Given the description of an element on the screen output the (x, y) to click on. 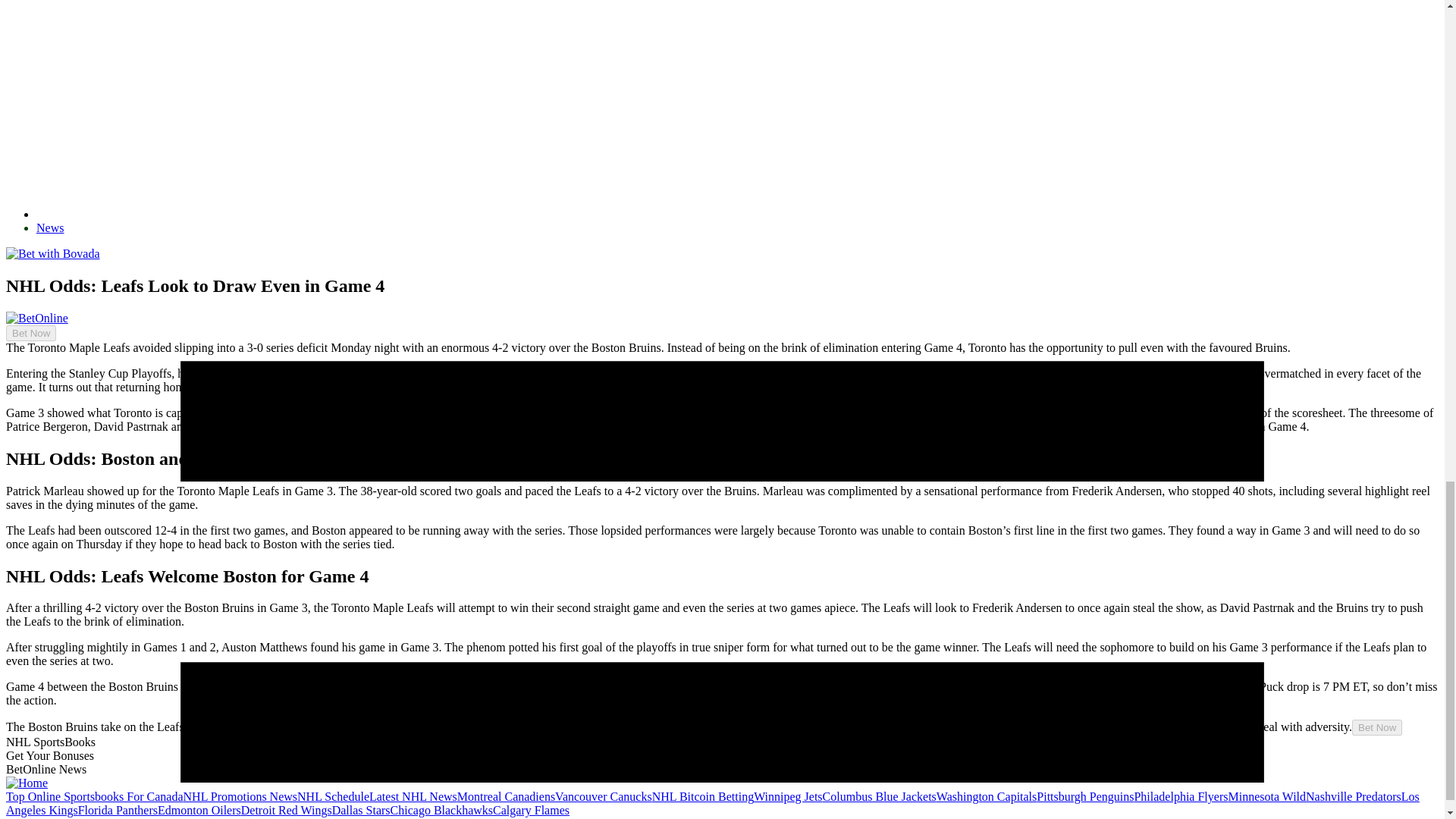
Los Angeles Kings (712, 803)
NHL Schedule (333, 796)
Bet Now (30, 333)
Latest NHL News (413, 796)
Nashville Predators (1353, 796)
Philadelphia Flyers (1180, 796)
Montreal Canadiens (505, 796)
NHL Promotions News (240, 796)
Vancouver Canucks (603, 796)
Winnipeg Jets (788, 796)
